Given the description of an element on the screen output the (x, y) to click on. 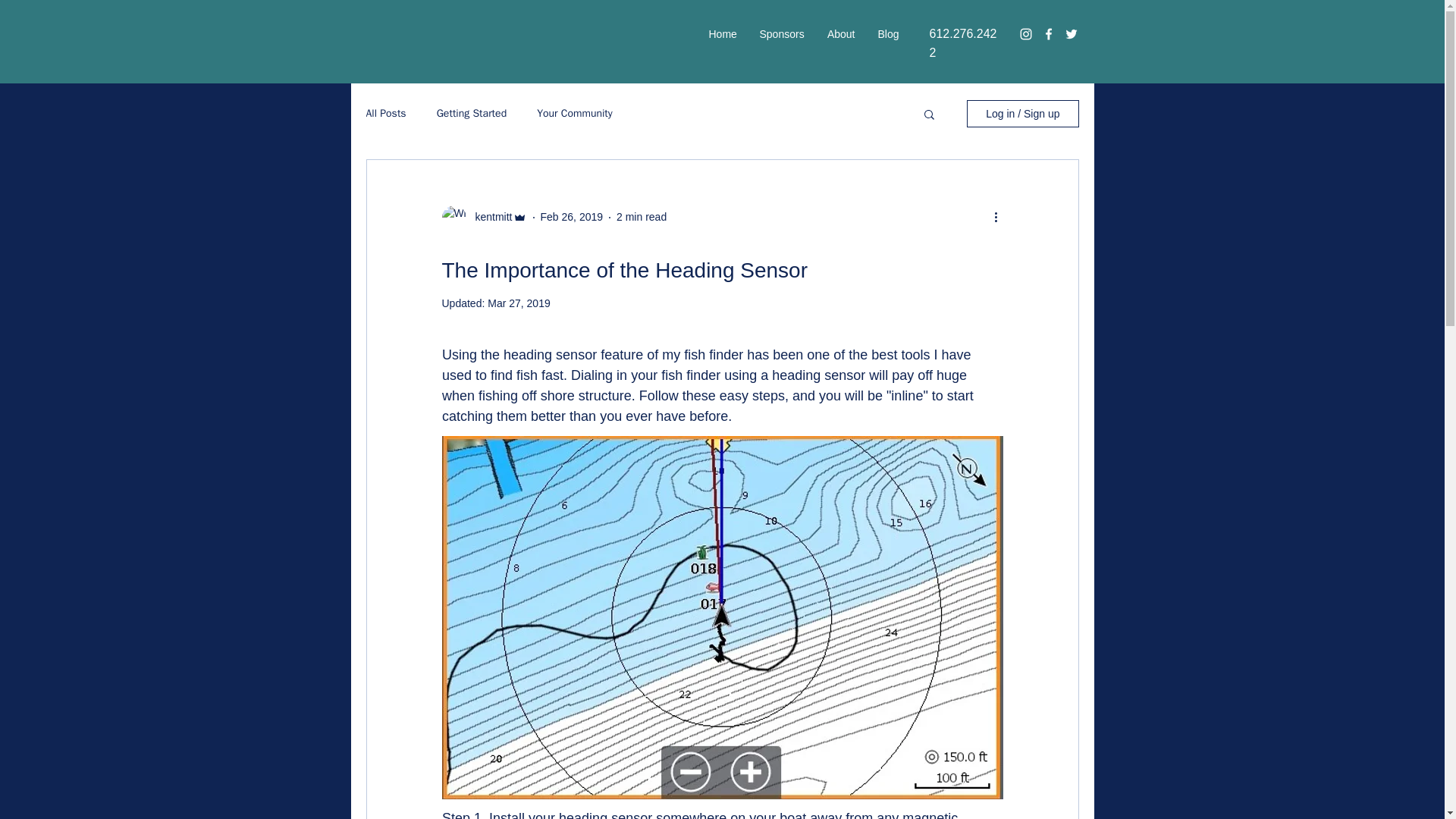
kentmitt (488, 217)
2 min read (640, 216)
All Posts (385, 113)
Blog (888, 33)
About (840, 33)
Sponsors (781, 33)
Mar 27, 2019 (518, 303)
Feb 26, 2019 (572, 216)
Home (722, 33)
Getting Started (471, 113)
